Given the description of an element on the screen output the (x, y) to click on. 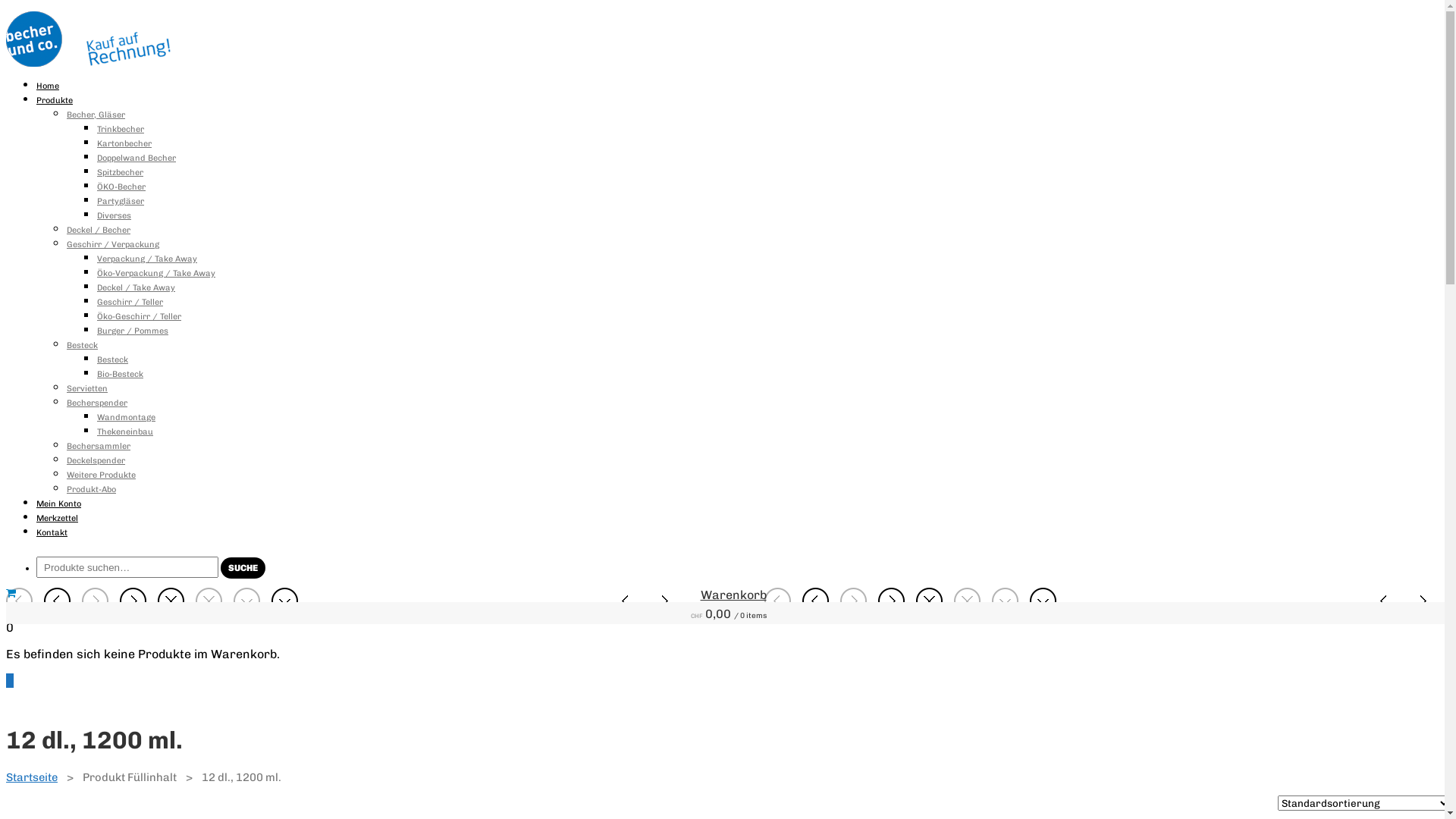
Bechersammler Element type: text (98, 446)
Thekeneinbau Element type: text (125, 431)
Geschirr / Verpackung Element type: text (112, 244)
Servietten Element type: text (86, 388)
Produkt-Abo Element type: text (91, 489)
Deckel / Take Away Element type: text (136, 287)
Trinkbecher Element type: text (120, 129)
Deckel / Becher Element type: text (98, 230)
Burger / Pommes Element type: text (132, 330)
Mein Konto Element type: text (58, 503)
Besteck Element type: text (81, 345)
Becherspender Element type: text (96, 402)
0 Element type: text (9, 680)
Kartonbecher Element type: text (124, 143)
Verpackung / Take Away Element type: text (147, 258)
Home Element type: text (47, 86)
Deckelspender Element type: text (95, 460)
Besteck Element type: text (112, 359)
Doppelwand Becher Element type: text (136, 158)
Spitzbecher Element type: text (120, 172)
Diverses Element type: text (114, 215)
Warenkorb Element type: text (733, 593)
SUCHE Element type: text (242, 566)
Wandmontage Element type: text (126, 417)
Merkzettel Element type: text (57, 518)
Geschirr / Teller Element type: text (130, 302)
Weitere Produkte Element type: text (100, 475)
Kontakt Element type: text (51, 532)
Produkte Element type: text (54, 100)
Bio-Besteck Element type: text (120, 374)
Startseite Element type: text (31, 777)
